Given the description of an element on the screen output the (x, y) to click on. 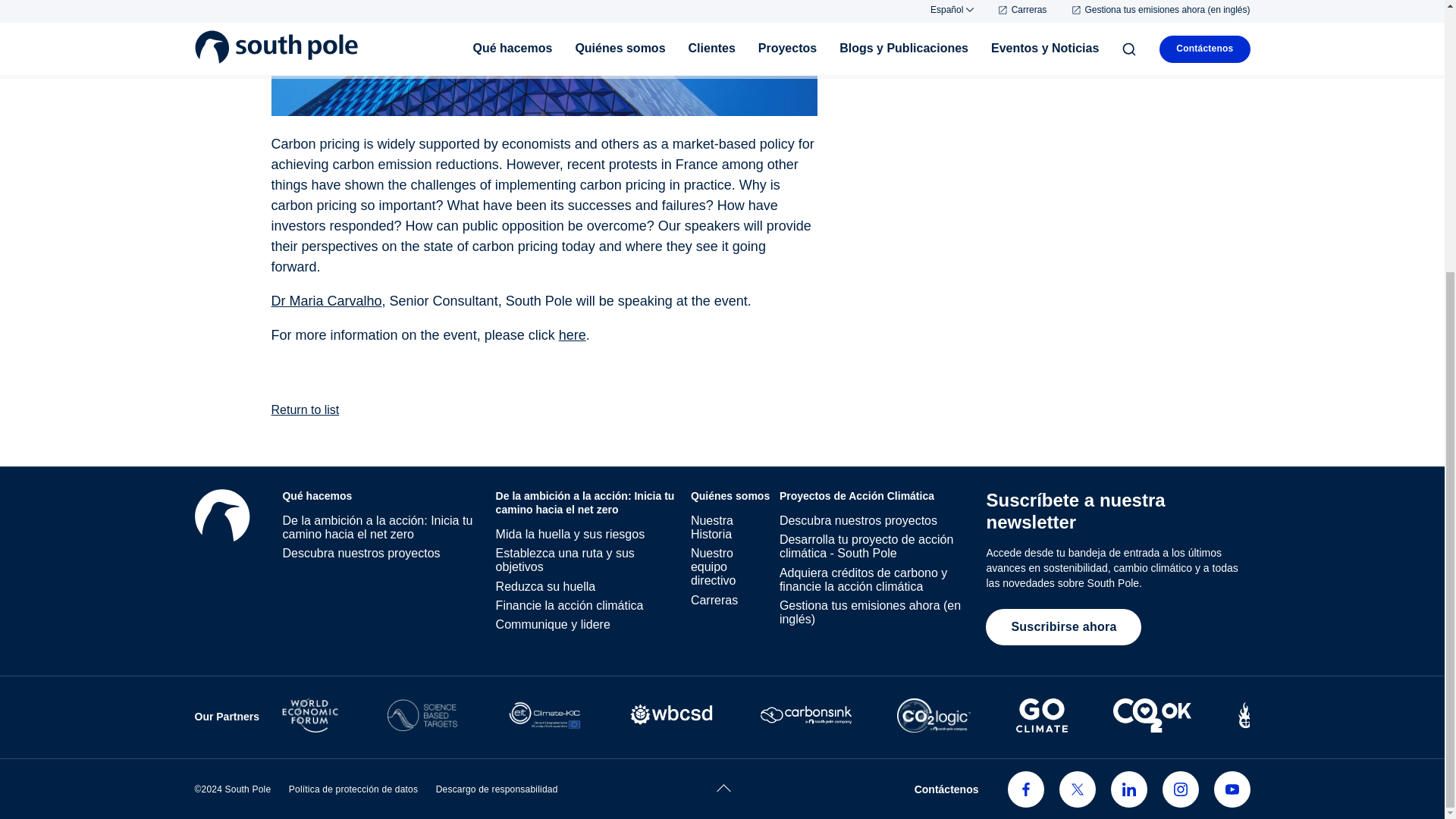
Share by E-Mail (251, 20)
